Given the description of an element on the screen output the (x, y) to click on. 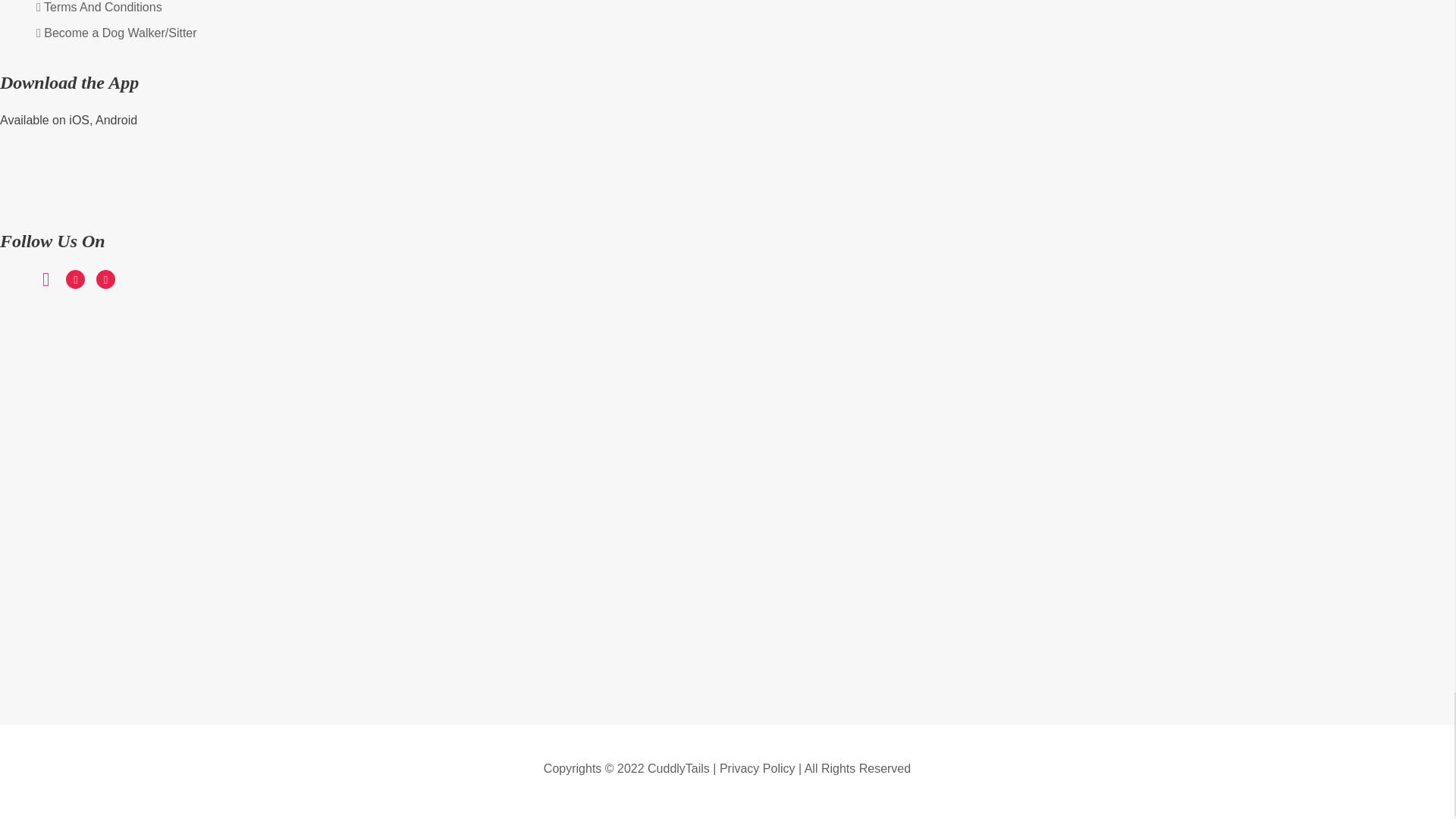
Terms And Conditions (98, 10)
